Given the description of an element on the screen output the (x, y) to click on. 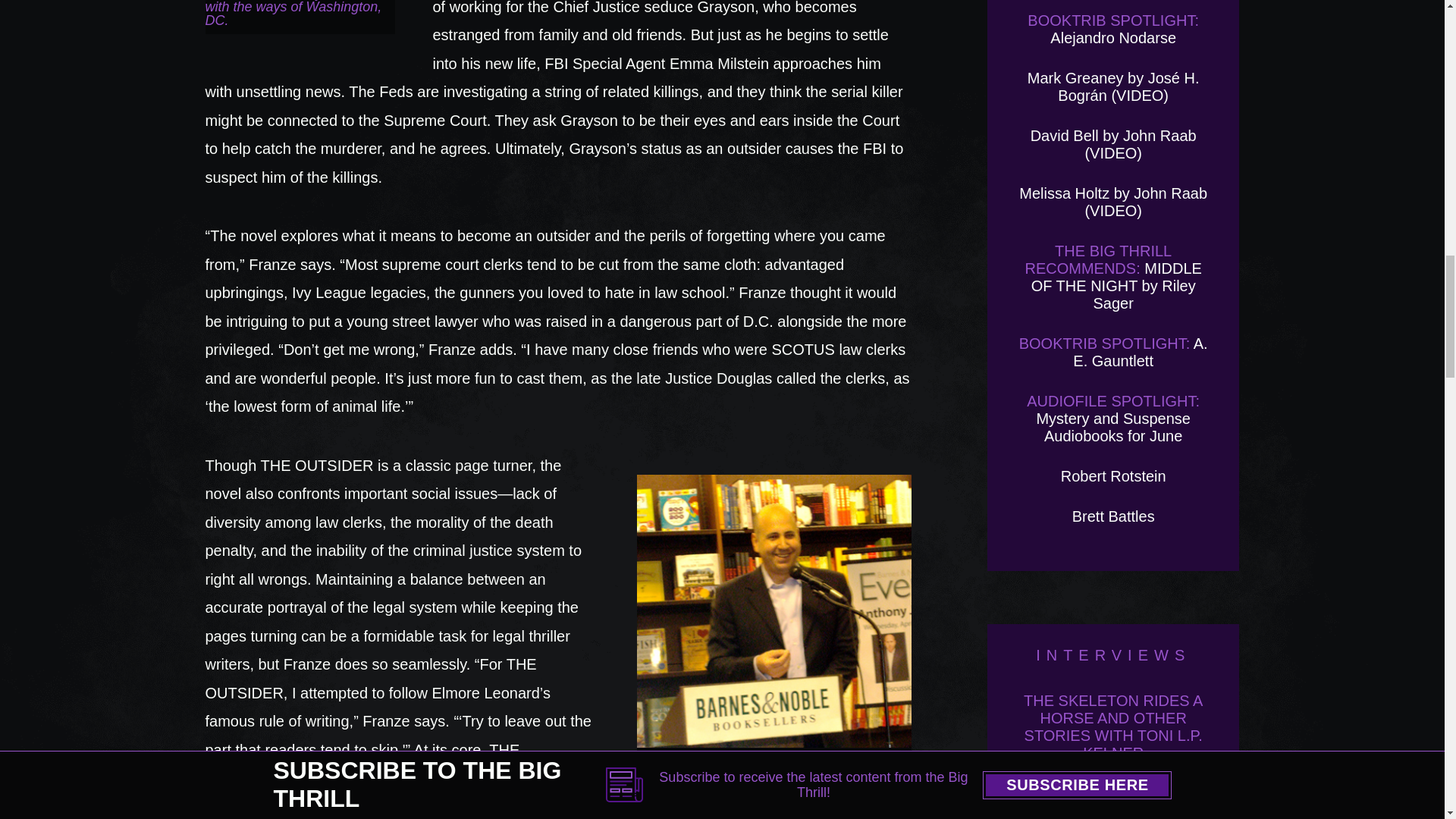
Booktrib Spotlight: Alejandro Nodarse (1112, 28)
